Given the description of an element on the screen output the (x, y) to click on. 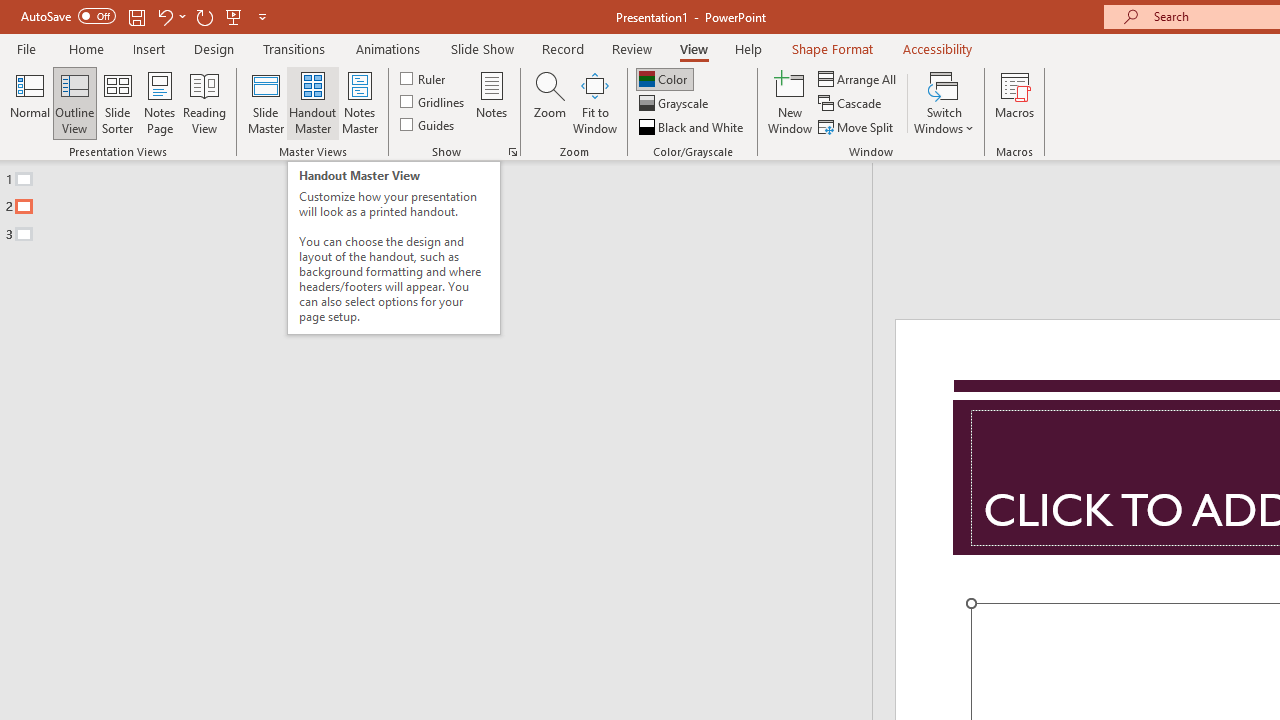
Zoom... (549, 102)
Grid Settings... (512, 151)
Slide Master (265, 102)
Outline View (74, 102)
New Window (790, 102)
Move Split (857, 126)
Handout Master (312, 102)
